Given the description of an element on the screen output the (x, y) to click on. 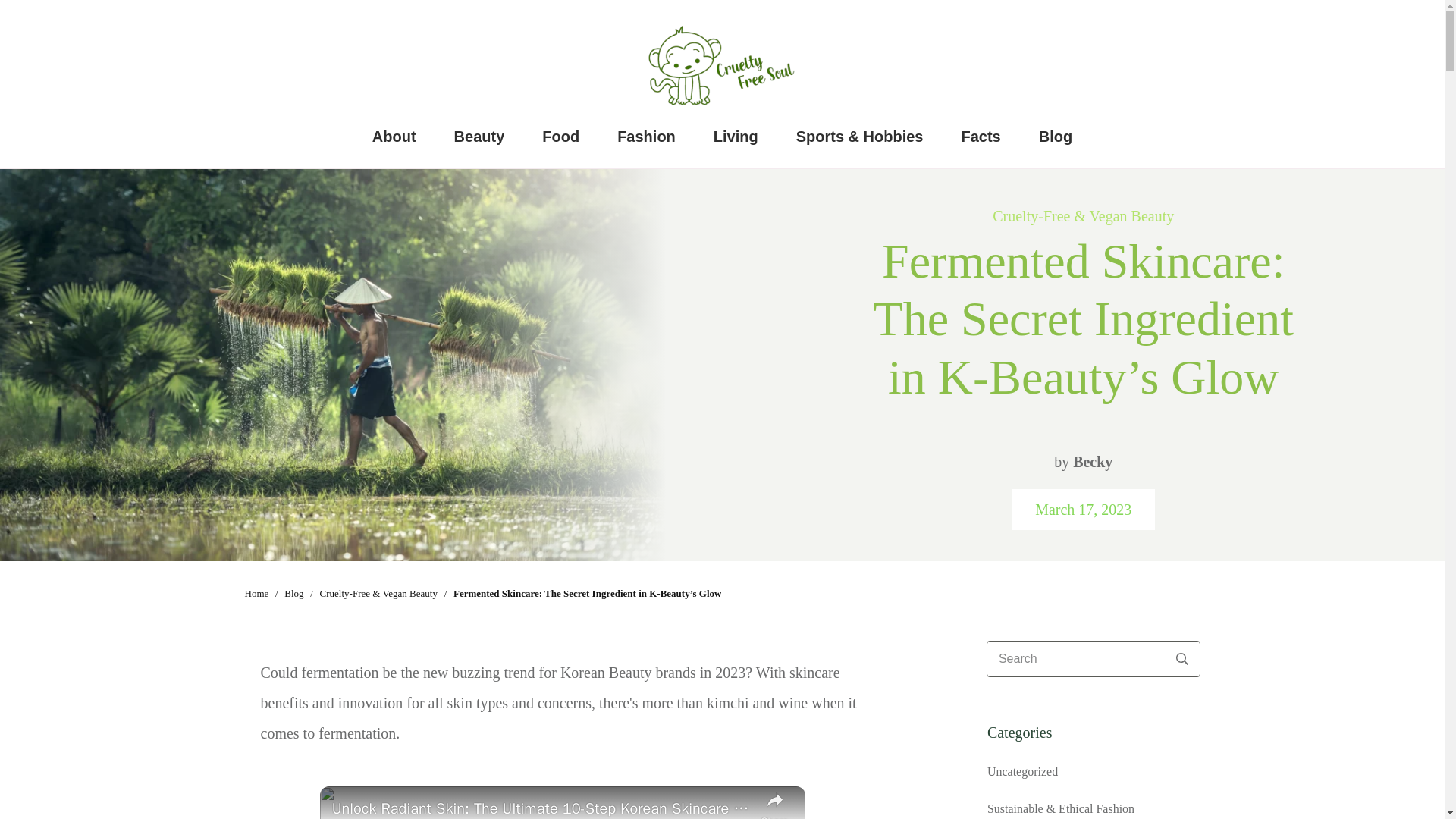
Blog (292, 593)
Fashion (646, 136)
About (394, 136)
Facts (980, 136)
Food (560, 136)
Becky (1092, 461)
Blog (1055, 136)
Living (735, 136)
Becky (1092, 461)
Home (255, 593)
Beauty (479, 136)
